Given the description of an element on the screen output the (x, y) to click on. 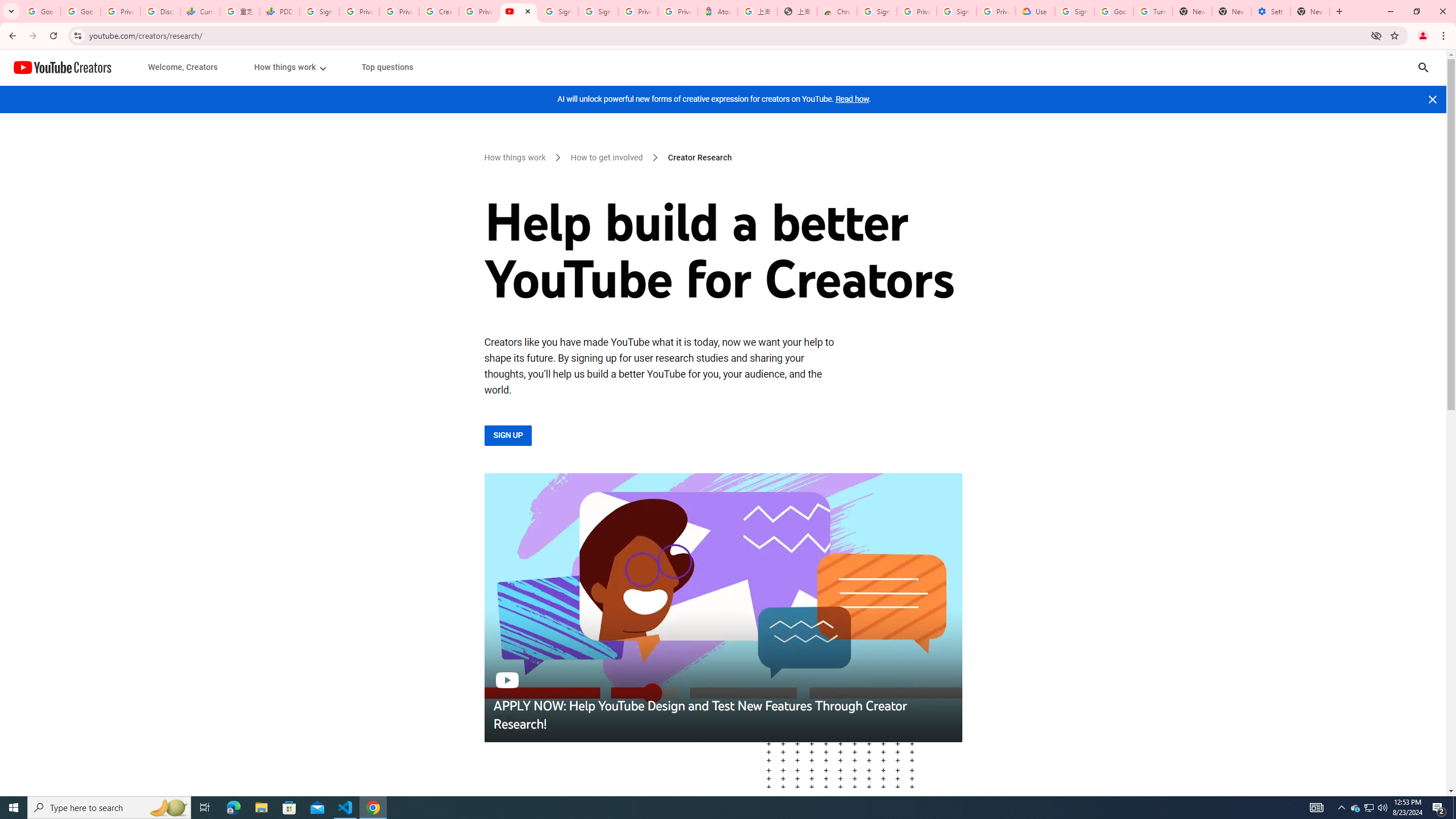
JUMP TO CONTENT (118, 67)
Sign in - Google Accounts (598, 11)
Atour Hotel - Google hotels (717, 11)
How things work  (515, 157)
1 (289, 67)
New Tab (1310, 11)
Sign in - Google Accounts (876, 11)
Community Research & User Studies - YouTube Creators (518, 11)
